Given the description of an element on the screen output the (x, y) to click on. 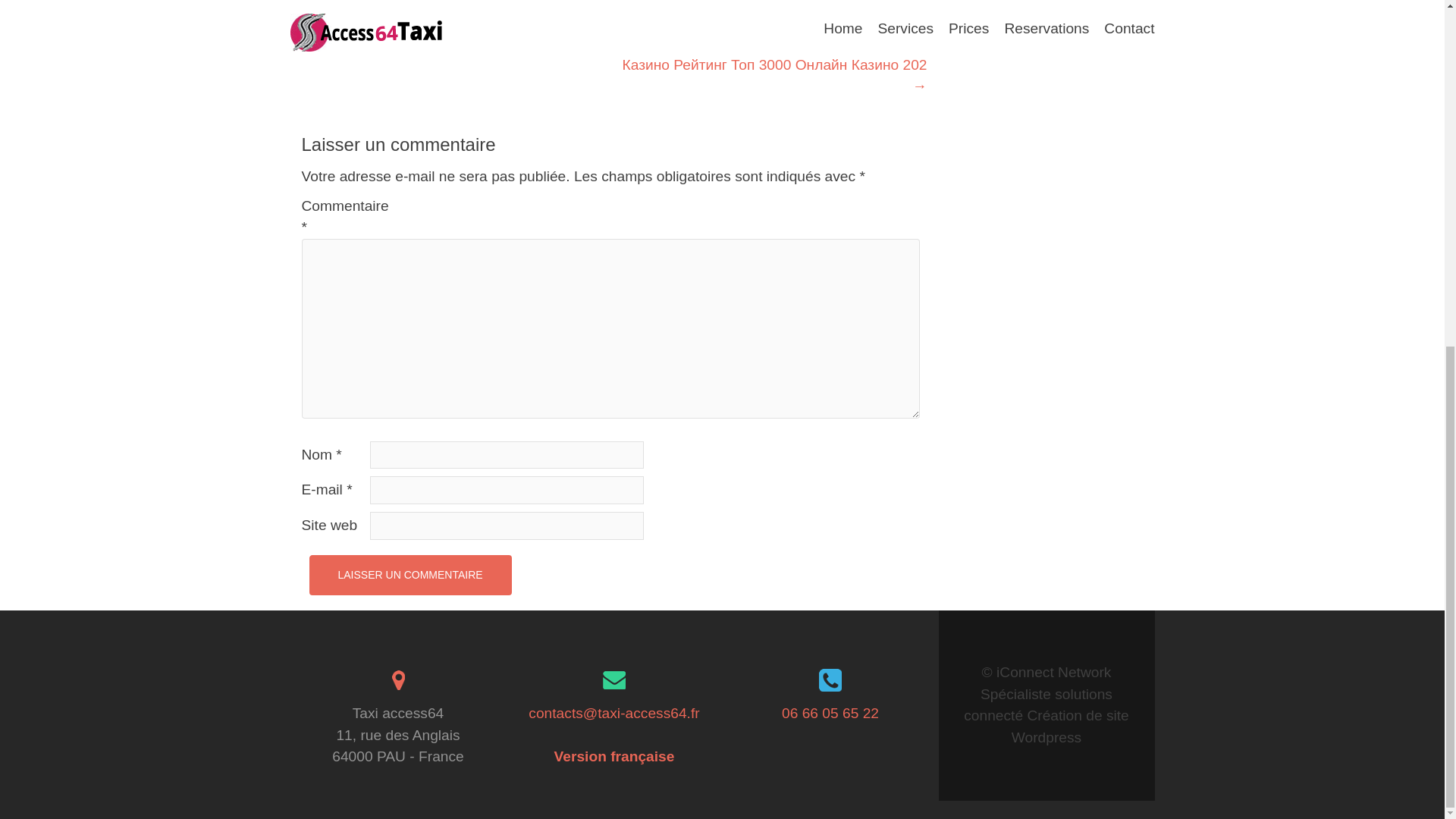
Laisser un commentaire (410, 575)
06 66 05 65 22 (830, 713)
Laisser un commentaire (410, 575)
